Given the description of an element on the screen output the (x, y) to click on. 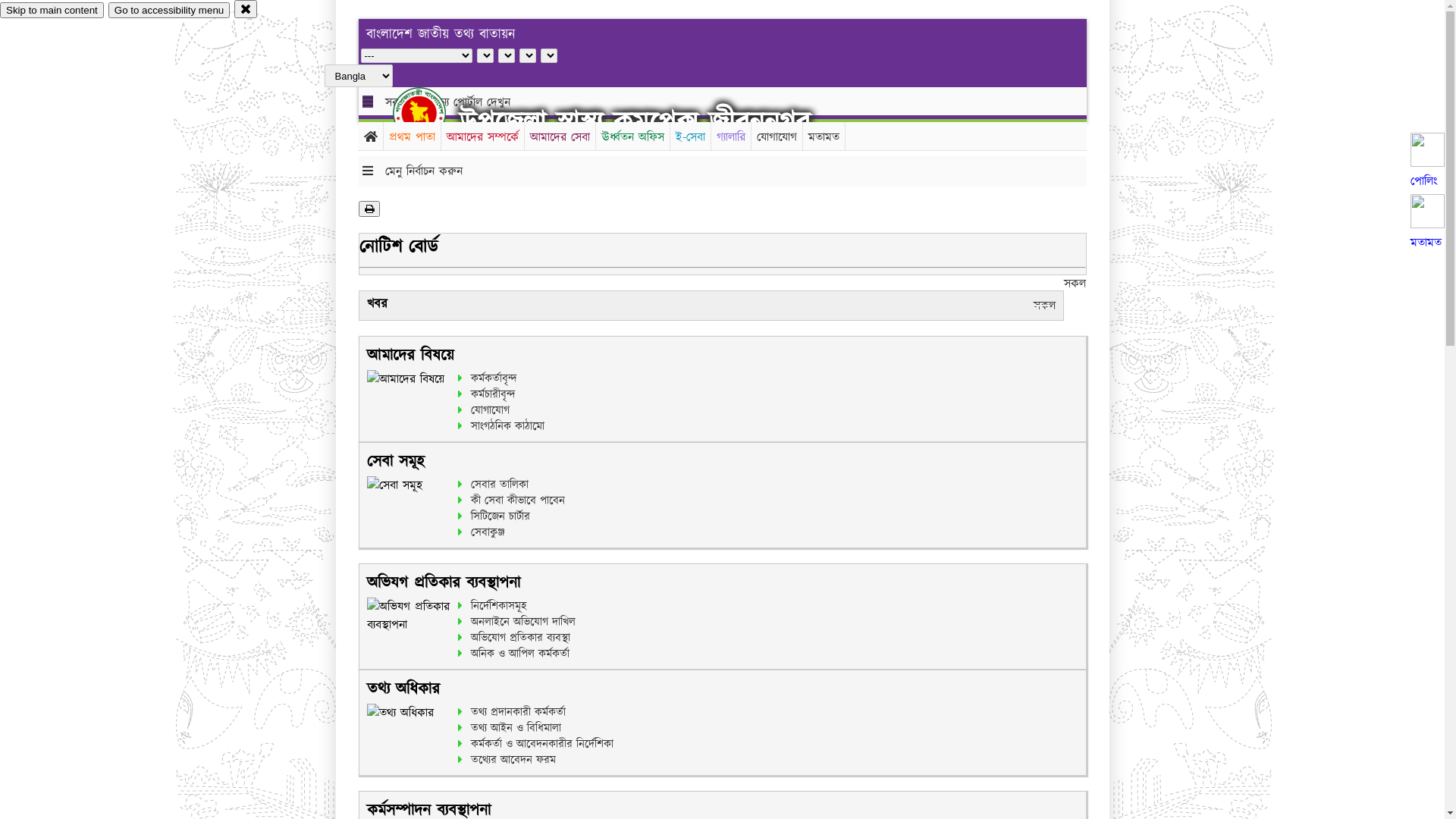
Go to accessibility menu Element type: text (168, 10)

                
             Element type: hover (431, 112)
Skip to main content Element type: text (51, 10)
close Element type: hover (245, 9)
